Given the description of an element on the screen output the (x, y) to click on. 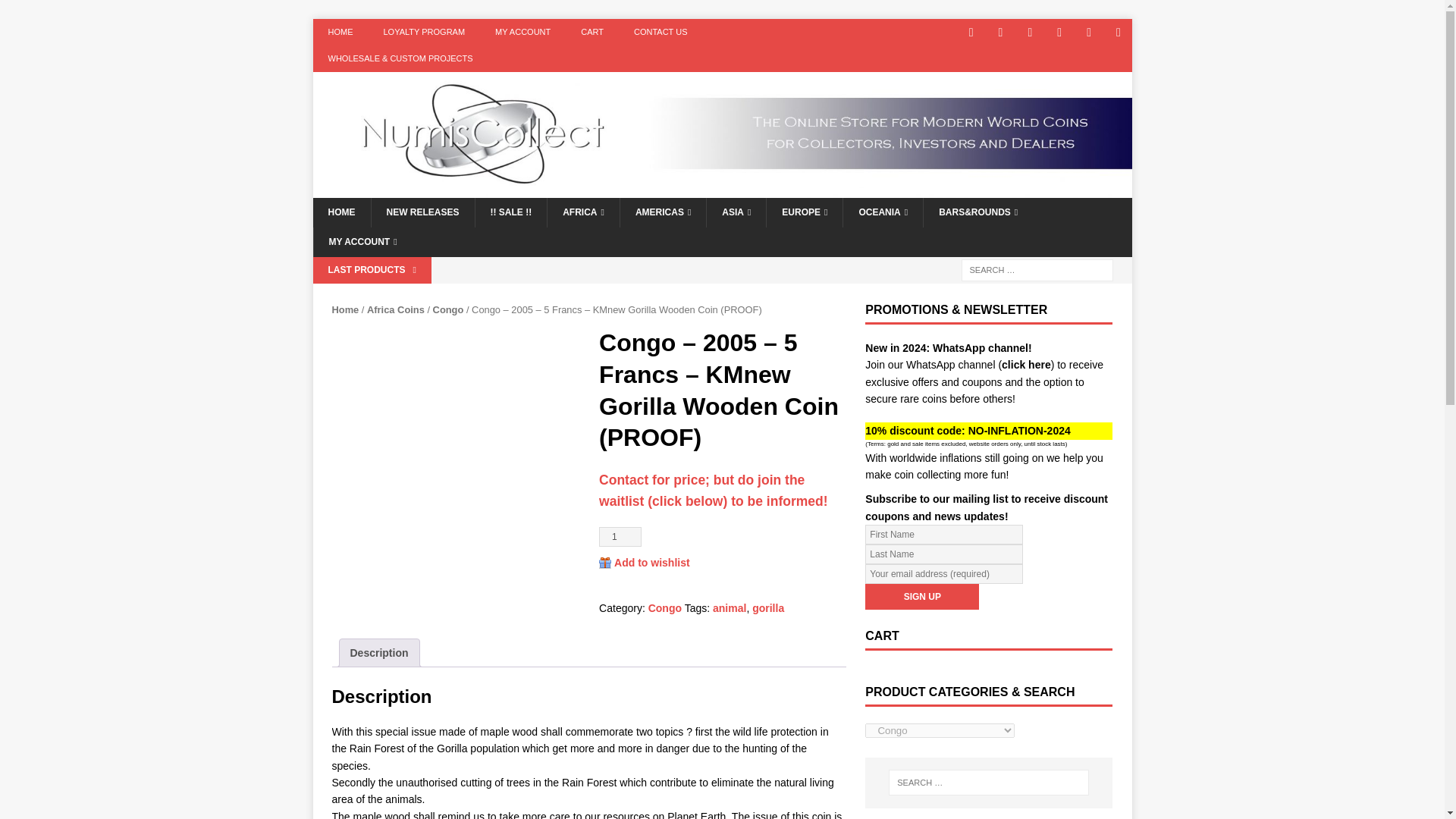
!! SALE !! (510, 212)
AFRICA (583, 212)
LOYALTY PROGRAM (424, 31)
HOME (341, 212)
The latest new releases (421, 212)
HOME (340, 31)
MY ACCOUNT (523, 31)
CART (592, 31)
CONTACT US (660, 31)
Coins from Africa (583, 212)
